Given the description of an element on the screen output the (x, y) to click on. 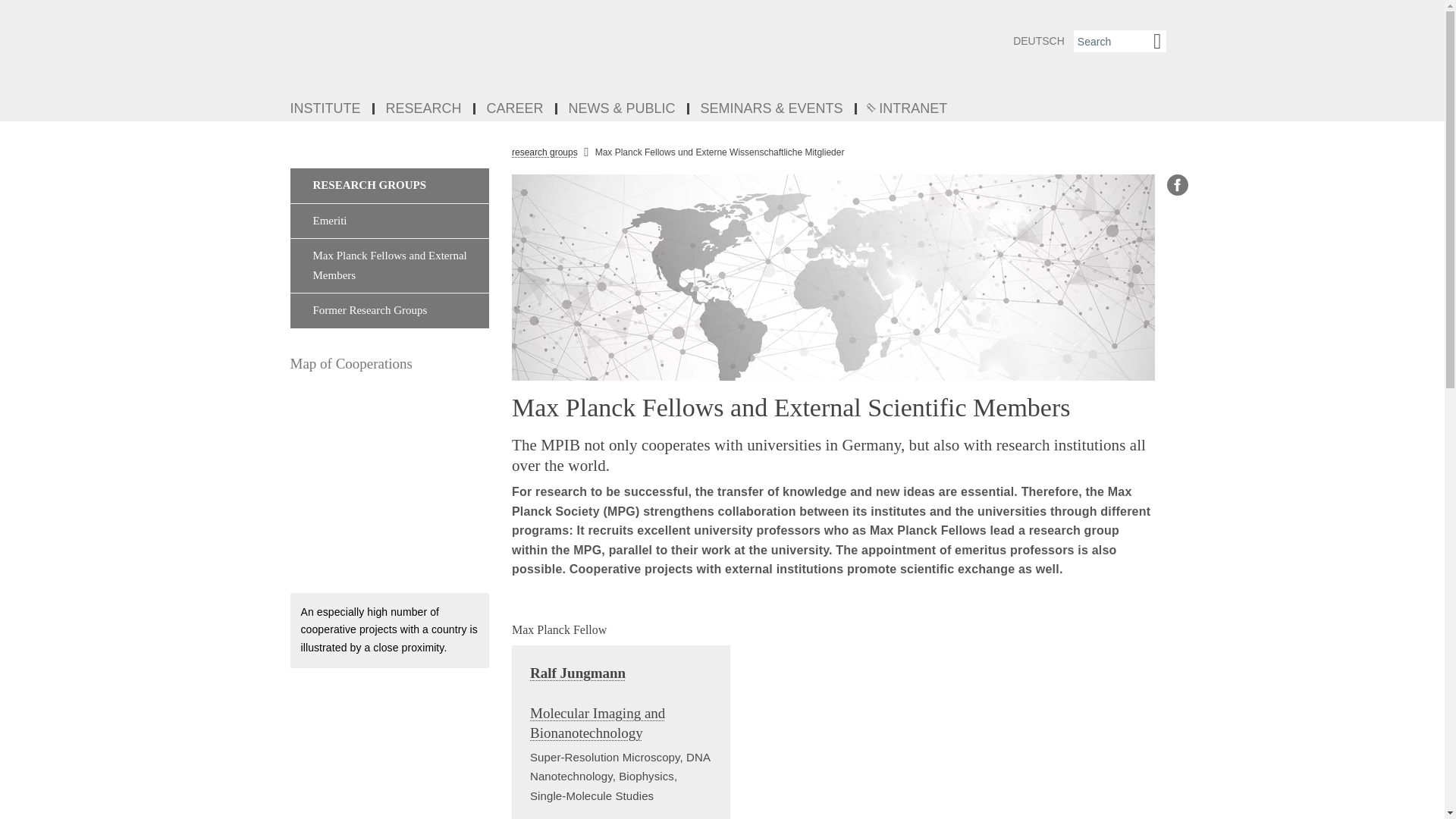
RESEARCH (425, 108)
INSTITUTE (326, 108)
E-Mail (1177, 354)
Max Planck Fellows and External Scientific Members (833, 277)
Facebook (1177, 184)
Xing (1177, 321)
CAREER (516, 108)
DEUTSCH (1038, 41)
Twitter (1177, 287)
LinkedIn (1177, 219)
Print (1177, 389)
opens zoom view (389, 489)
Reddit (1177, 252)
